Given the description of an element on the screen output the (x, y) to click on. 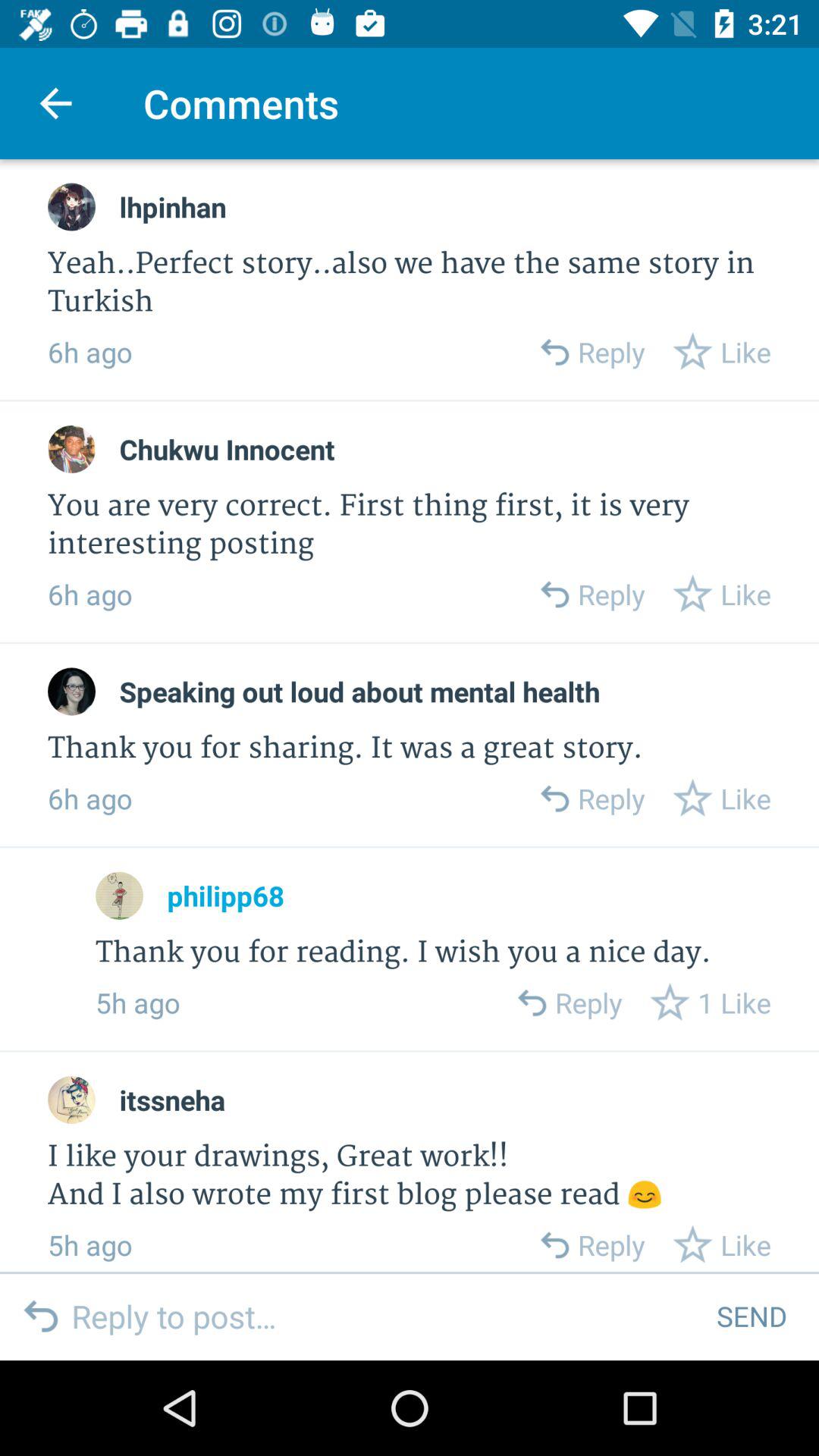
jump until the speaking out loud item (359, 691)
